Given the description of an element on the screen output the (x, y) to click on. 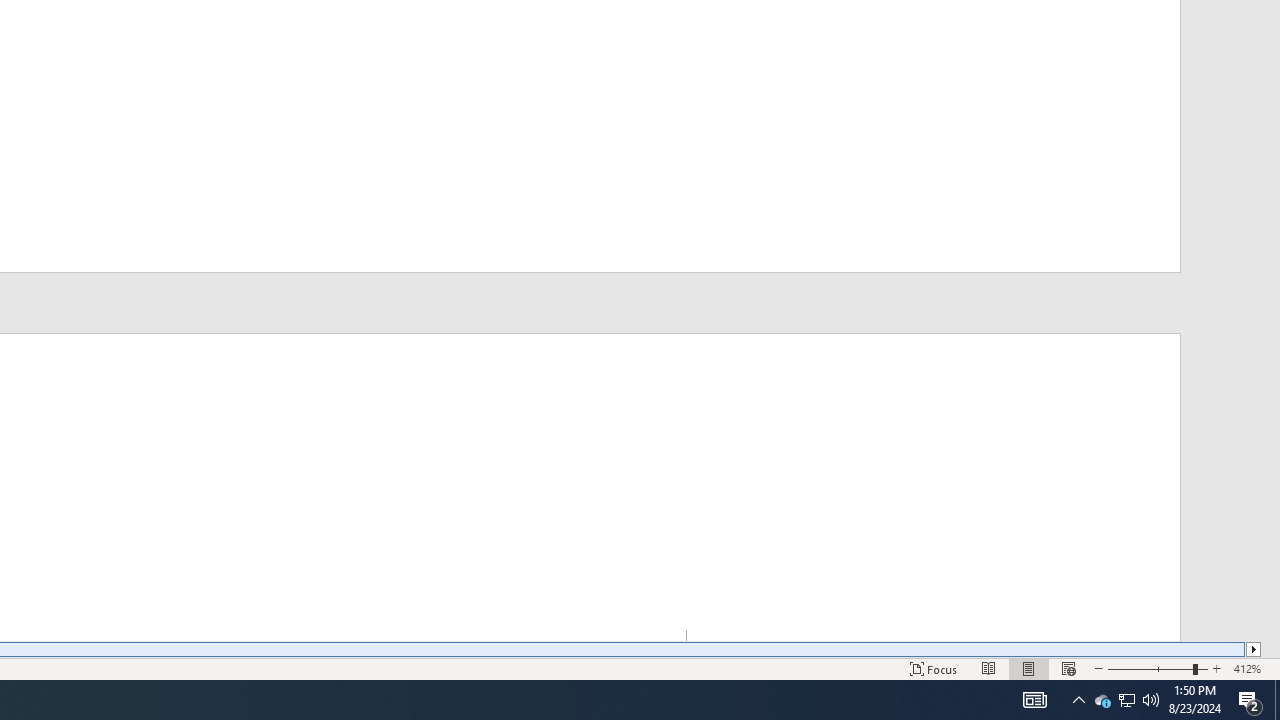
Column right (1254, 649)
